Given the description of an element on the screen output the (x, y) to click on. 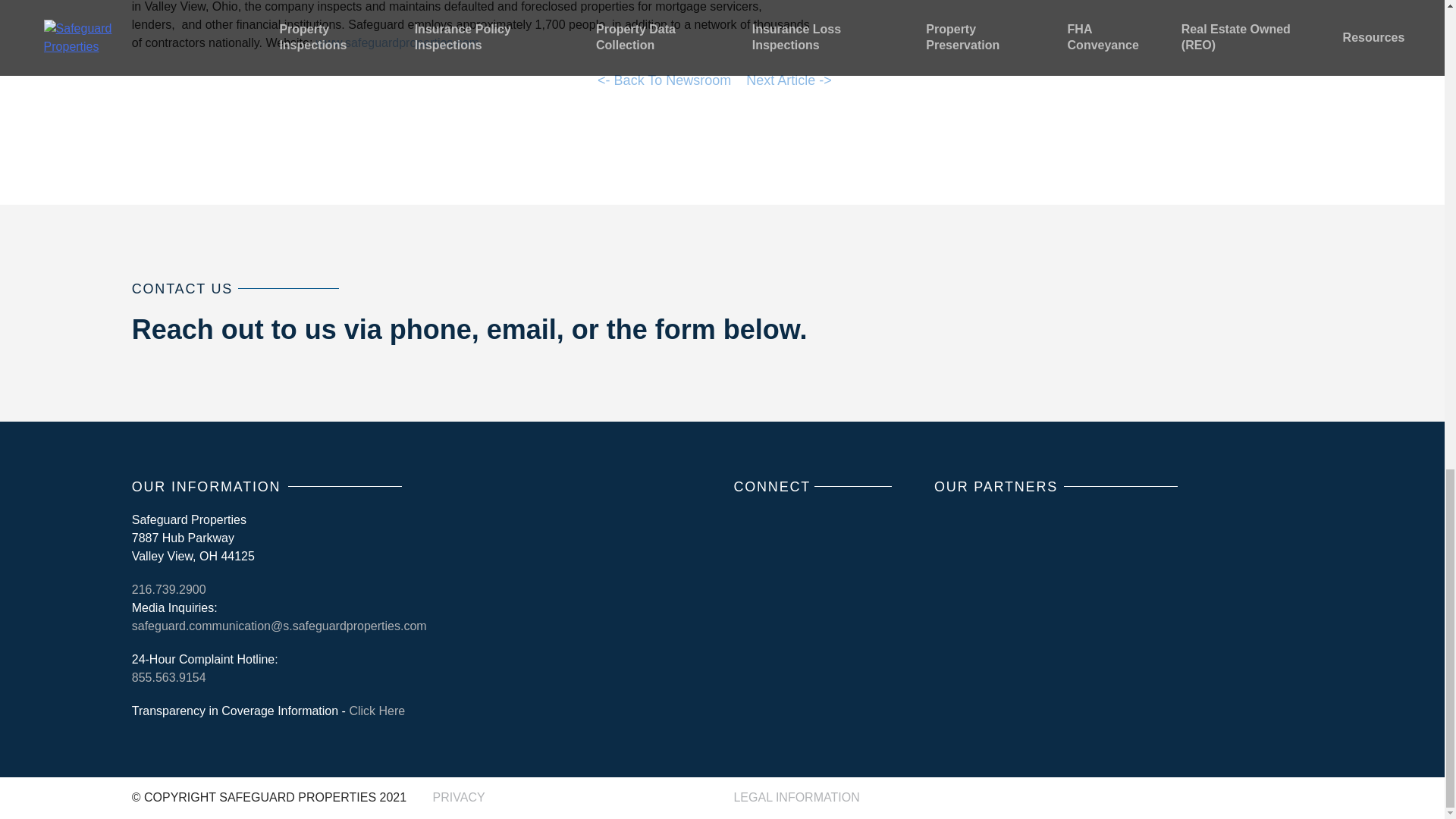
855.563.9154 (169, 676)
www.safeguardproperties.com (397, 42)
Click Here (376, 710)
216.739.2900 (169, 589)
